Given the description of an element on the screen output the (x, y) to click on. 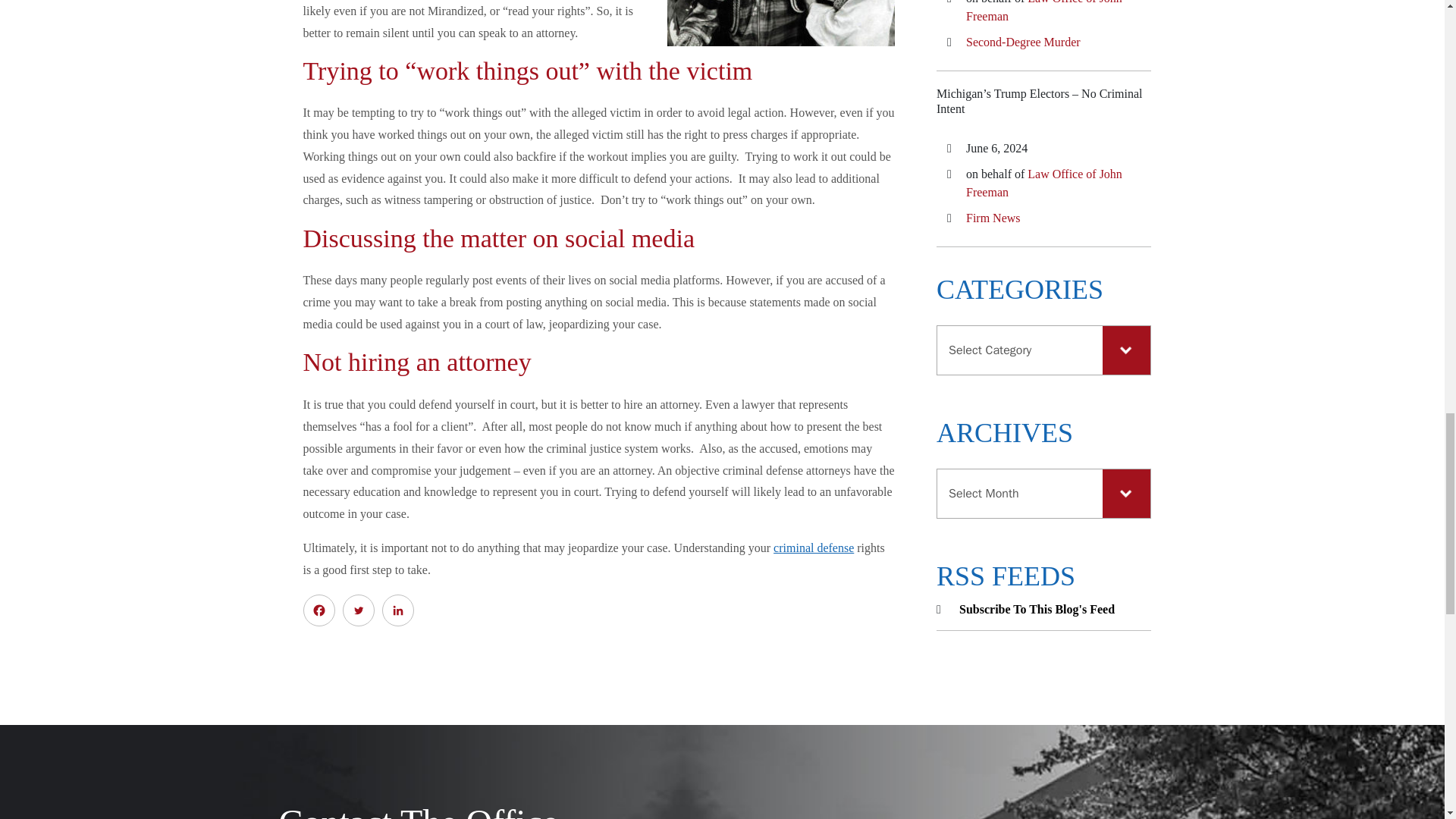
Twitter (358, 610)
Facebook (318, 610)
stooge-300 - Law Office of John Freeman (780, 22)
Linkedin (397, 610)
